Given the description of an element on the screen output the (x, y) to click on. 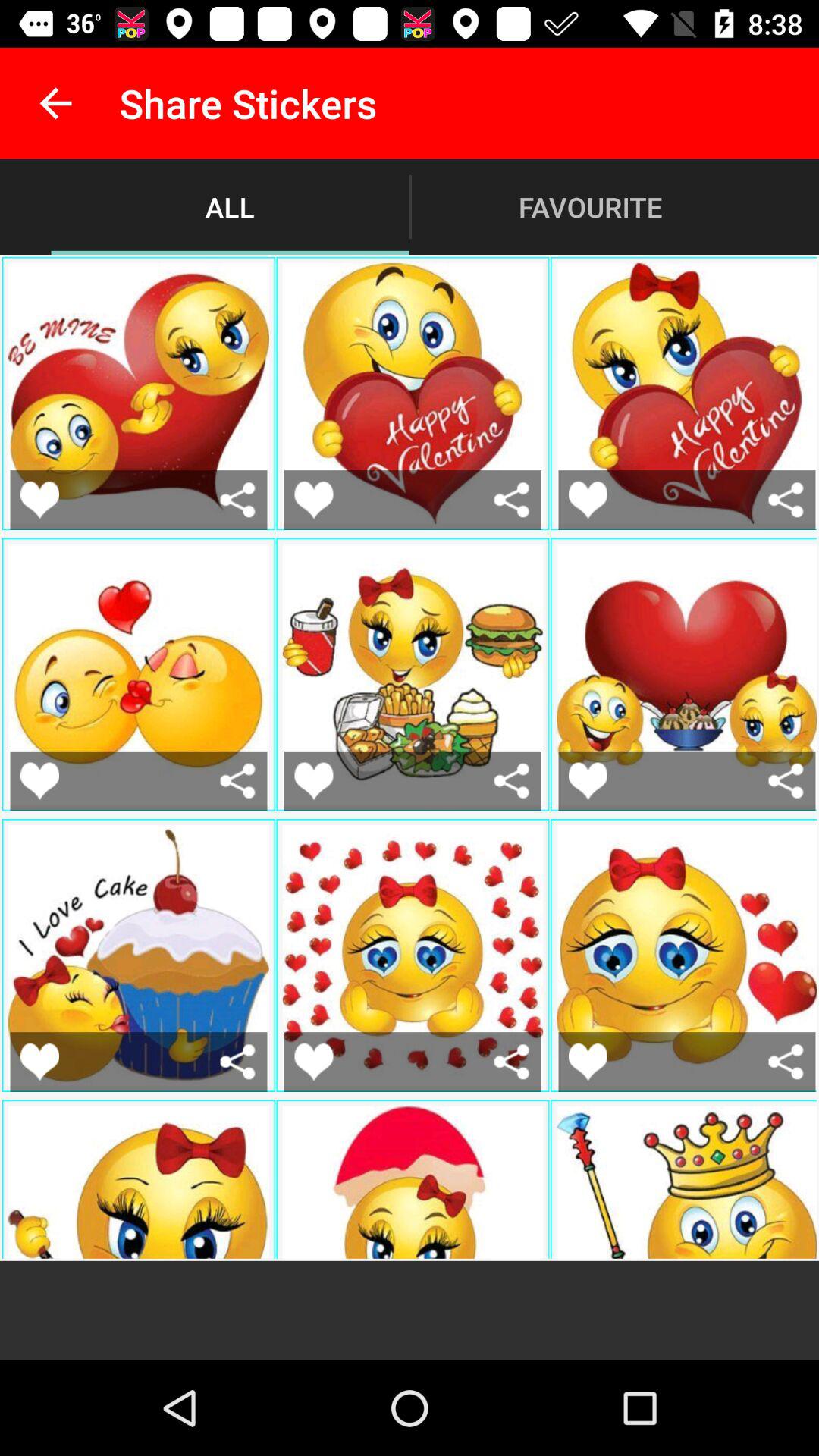
favorite this sticker (313, 1061)
